Given the description of an element on the screen output the (x, y) to click on. 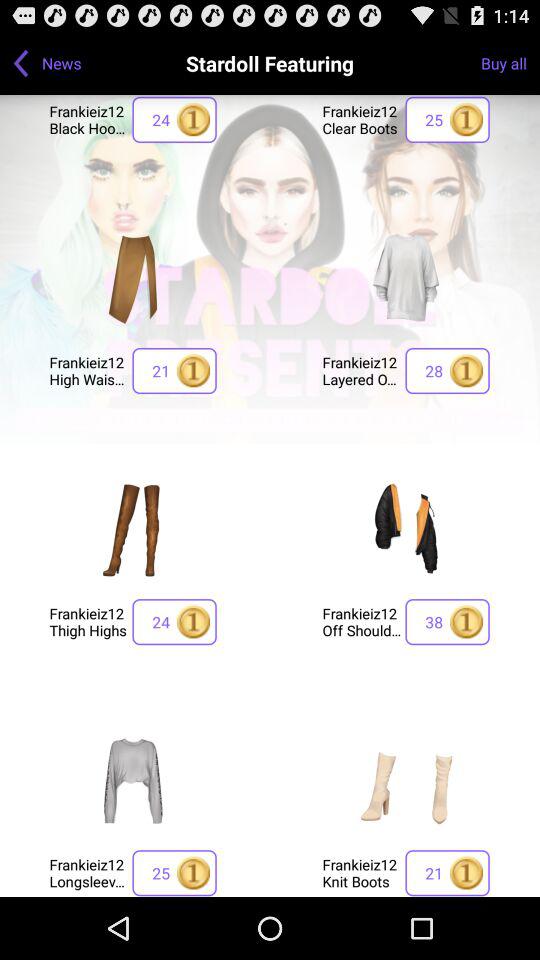
buy item (406, 529)
